Given the description of an element on the screen output the (x, y) to click on. 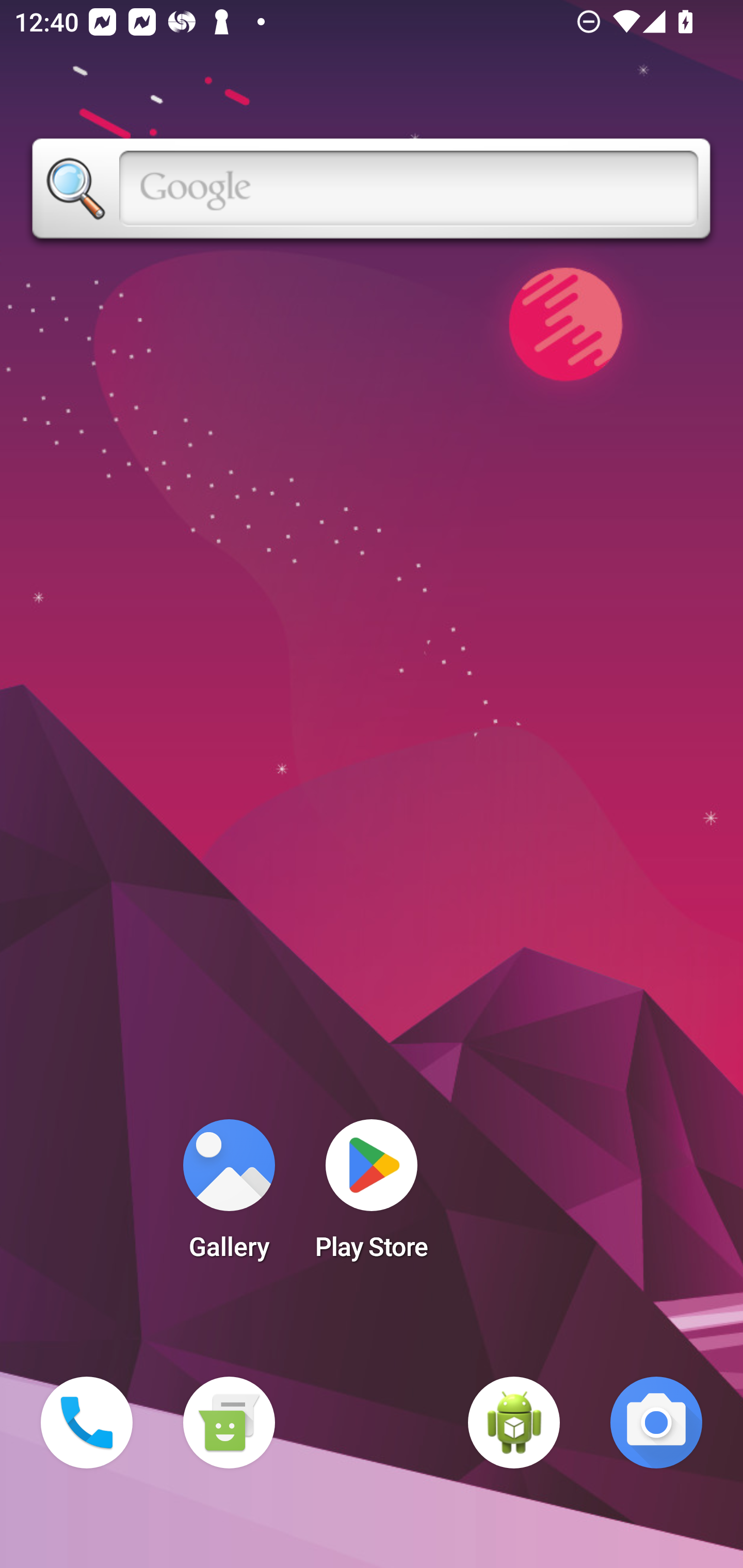
Gallery (228, 1195)
Play Store (371, 1195)
Phone (86, 1422)
Messaging (228, 1422)
WebView Browser Tester (513, 1422)
Camera (656, 1422)
